Given the description of an element on the screen output the (x, y) to click on. 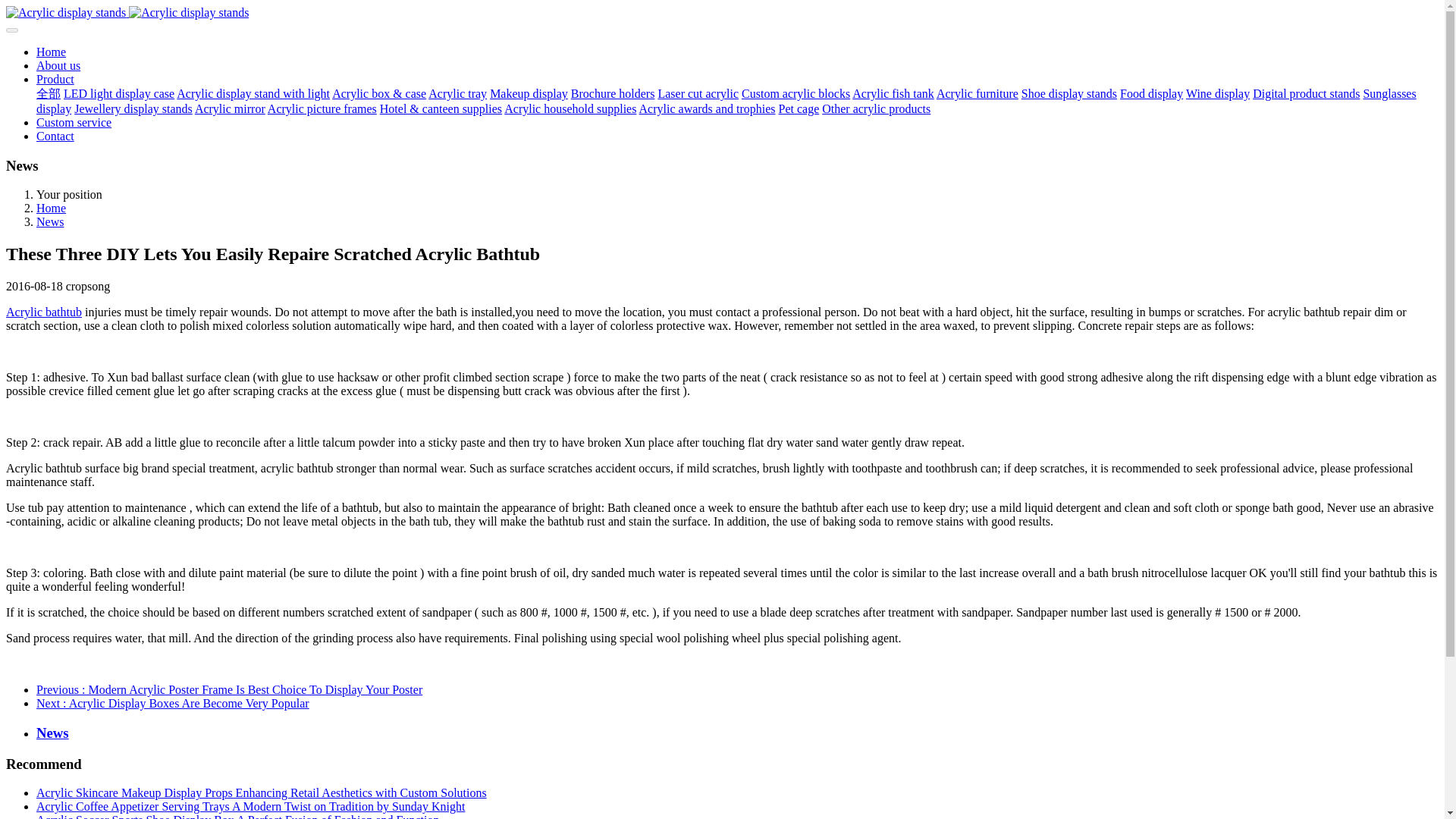
Makeup display (528, 92)
About us (58, 65)
LED light display case (119, 92)
Acrylic display stand with light (253, 92)
Food display (1150, 92)
Acrylic fish tank (892, 92)
News (50, 221)
Product (55, 78)
Sunglasses display (726, 100)
Wine display (1217, 92)
